Given the description of an element on the screen output the (x, y) to click on. 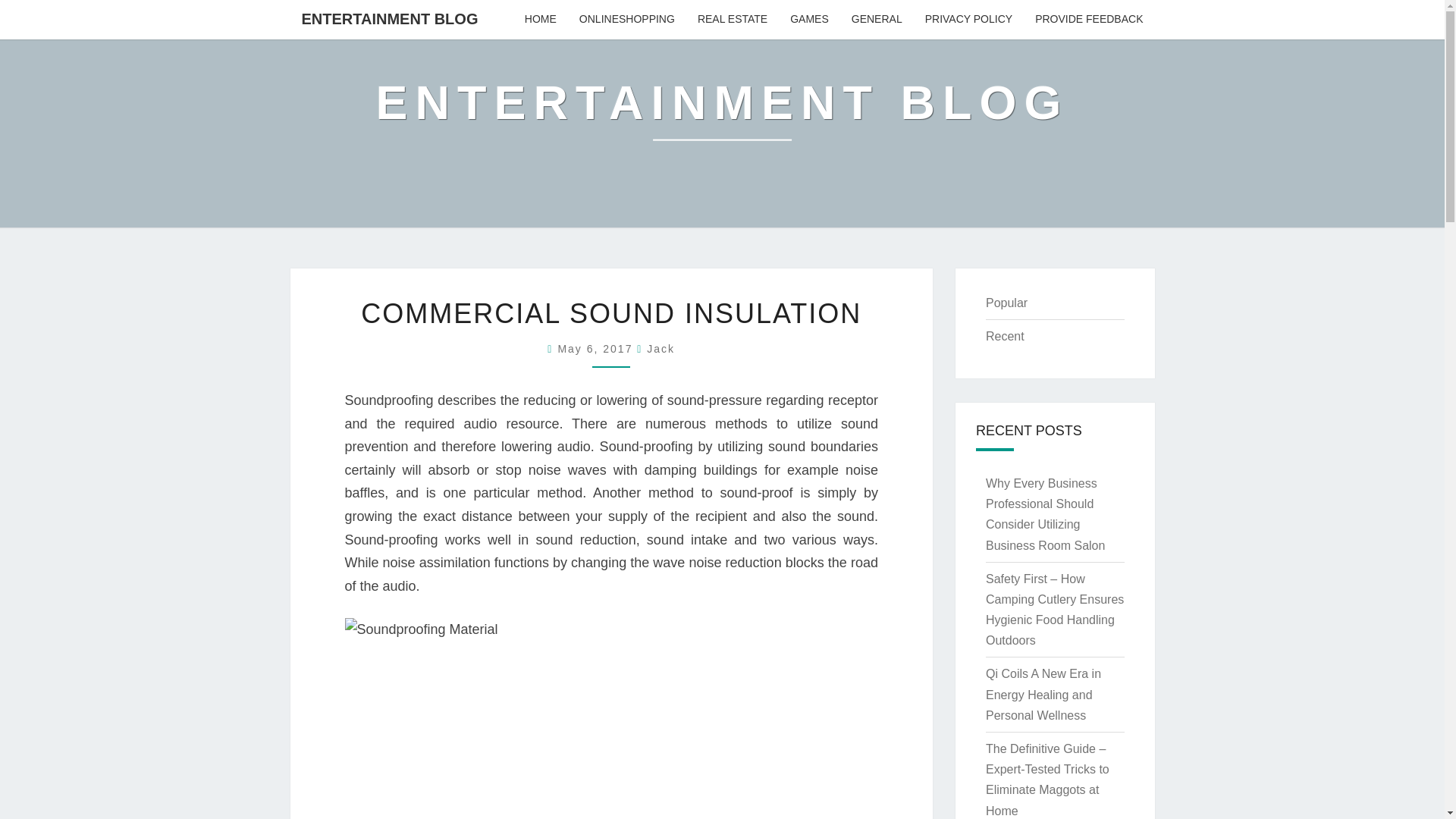
Entertainment Blog (721, 113)
Recent (1005, 336)
Popular (1006, 302)
REAL ESTATE (731, 19)
May 6, 2017 (597, 348)
ONLINESHOPPING (626, 19)
GAMES (809, 19)
Jack (660, 348)
GENERAL (877, 19)
